Given the description of an element on the screen output the (x, y) to click on. 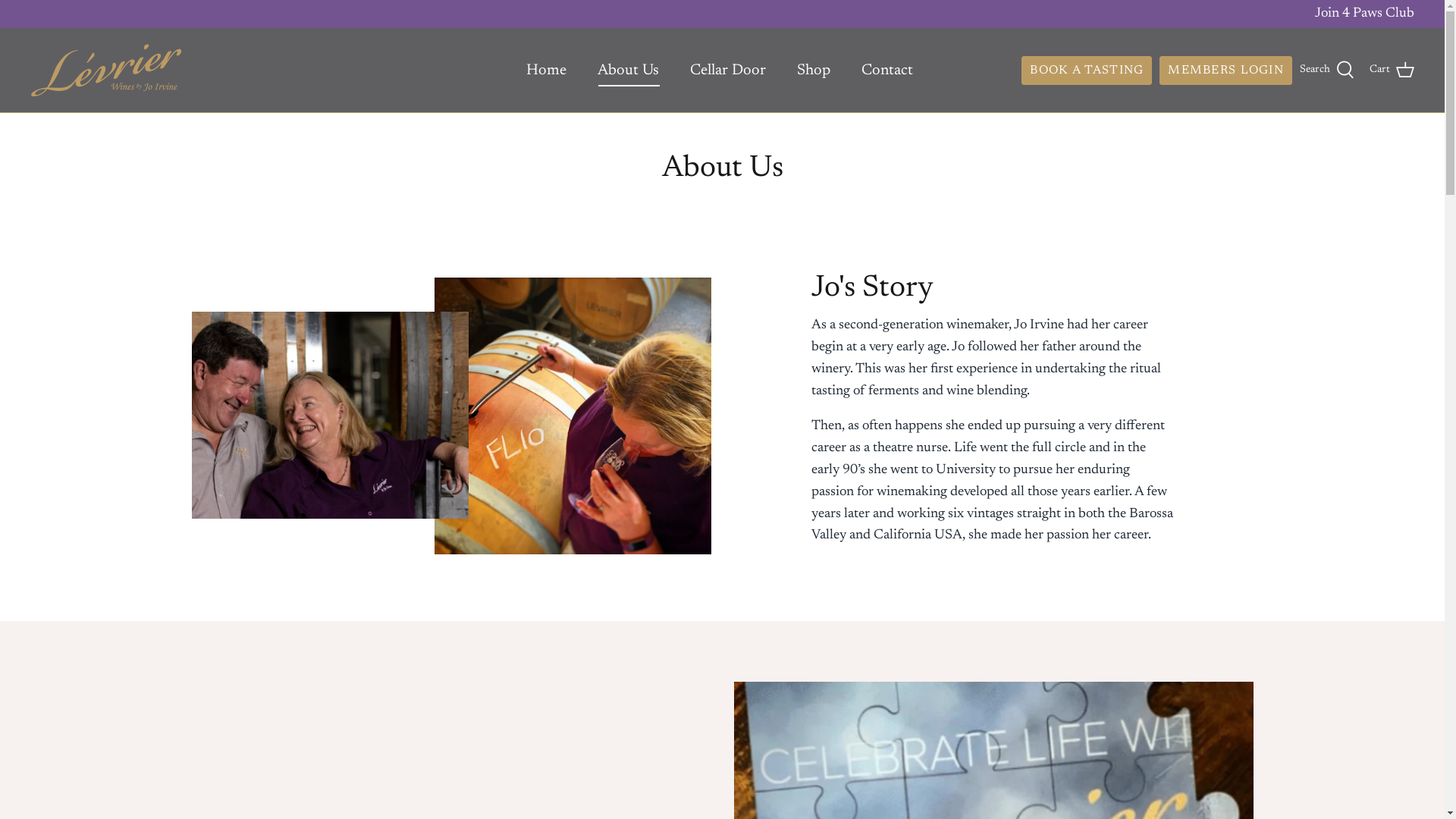
Levrier Wines by Jo Irvine Element type: hover (106, 70)
Cart Element type: text (1391, 70)
Home Element type: text (546, 70)
Cellar Door Element type: text (727, 70)
BOOK A TASTING Element type: text (1086, 70)
Contact Element type: text (886, 70)
MEMBERS LOGIN Element type: text (1225, 70)
Join 4 Paws Club Element type: text (1364, 14)
Shop Element type: text (813, 70)
Search Element type: text (1326, 70)
About Us Element type: text (627, 70)
